Given the description of an element on the screen output the (x, y) to click on. 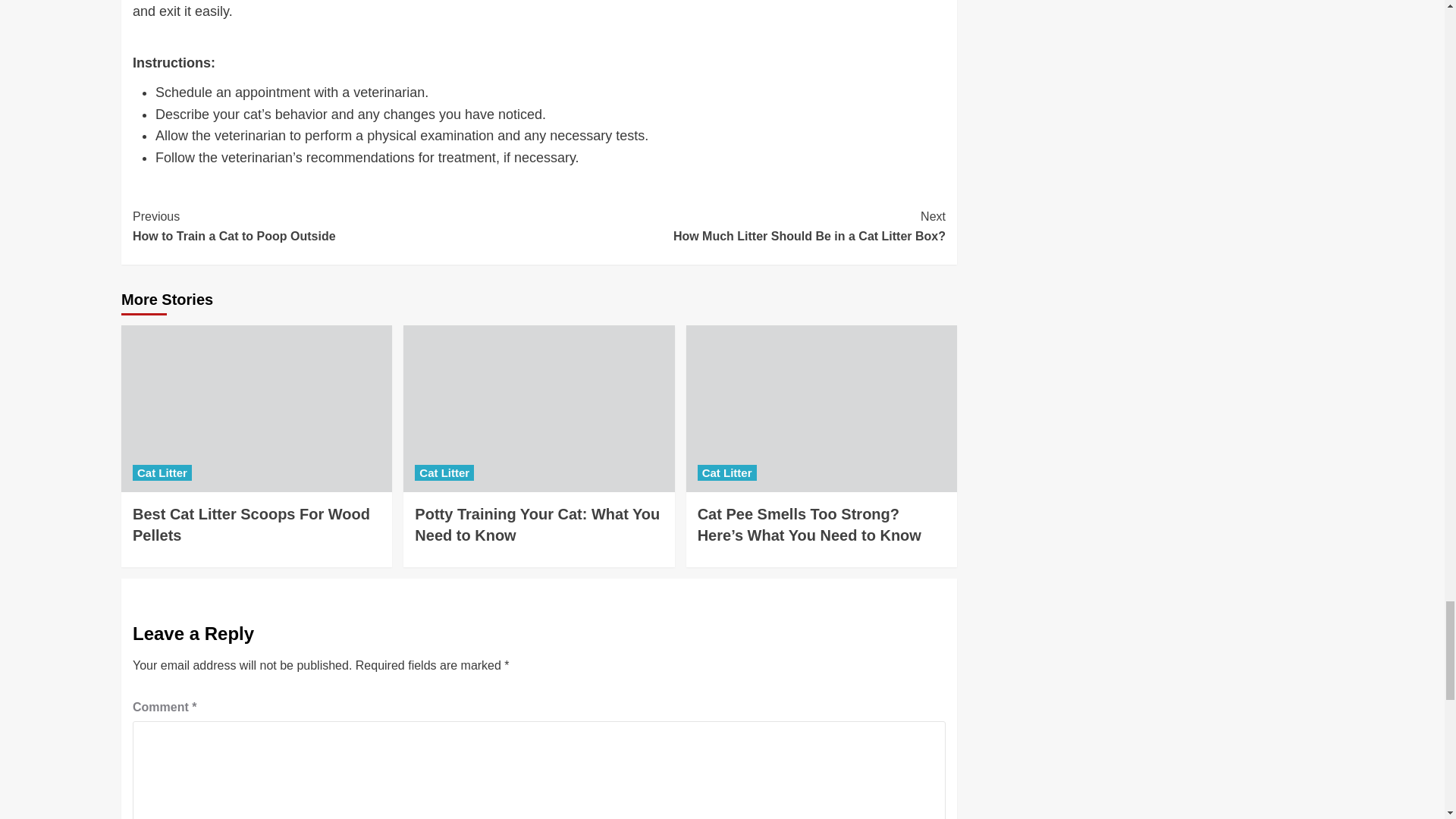
Potty Training Your Cat: What You Need to Know (536, 524)
Cat Litter (162, 472)
Cat Pee Smells Too Strong? Here's What You Need to Know 12 (820, 408)
Potty Training Your Cat: What You Need to Know 10 (741, 226)
Best Cat Litter Scoops For Wood Pellets (538, 408)
Cat Litter (250, 524)
Cat Litter (335, 226)
Best Cat Litter Scoops For Wood Pellets 8 (444, 472)
